Given the description of an element on the screen output the (x, y) to click on. 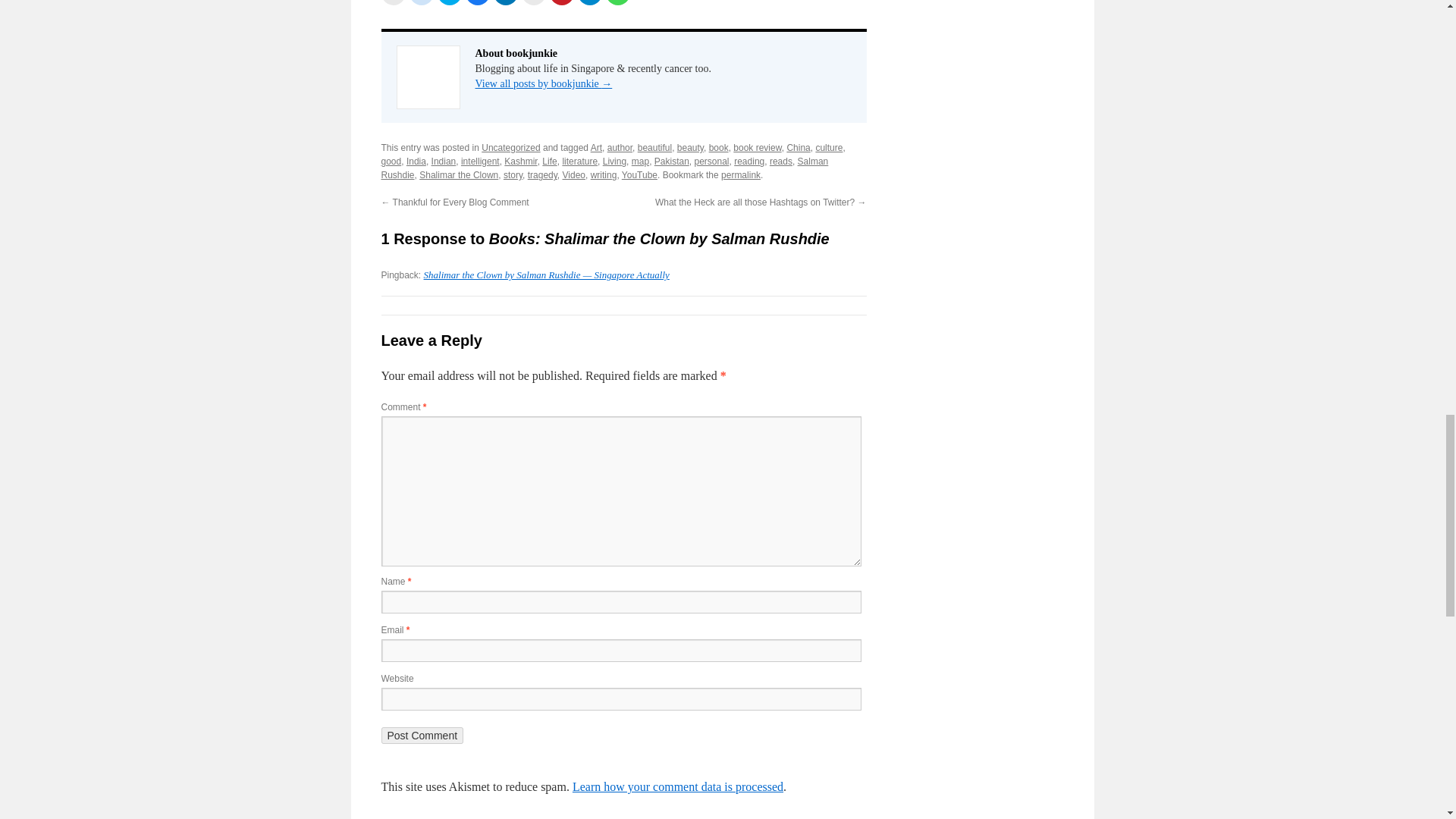
Click to email a link to a friend (392, 2)
Click to print (533, 2)
culture (829, 147)
book review (756, 147)
China (797, 147)
Art (596, 147)
Click to share on Facebook (477, 2)
beauty (690, 147)
Post Comment (421, 735)
Click to share on Twitter (448, 2)
